Given the description of an element on the screen output the (x, y) to click on. 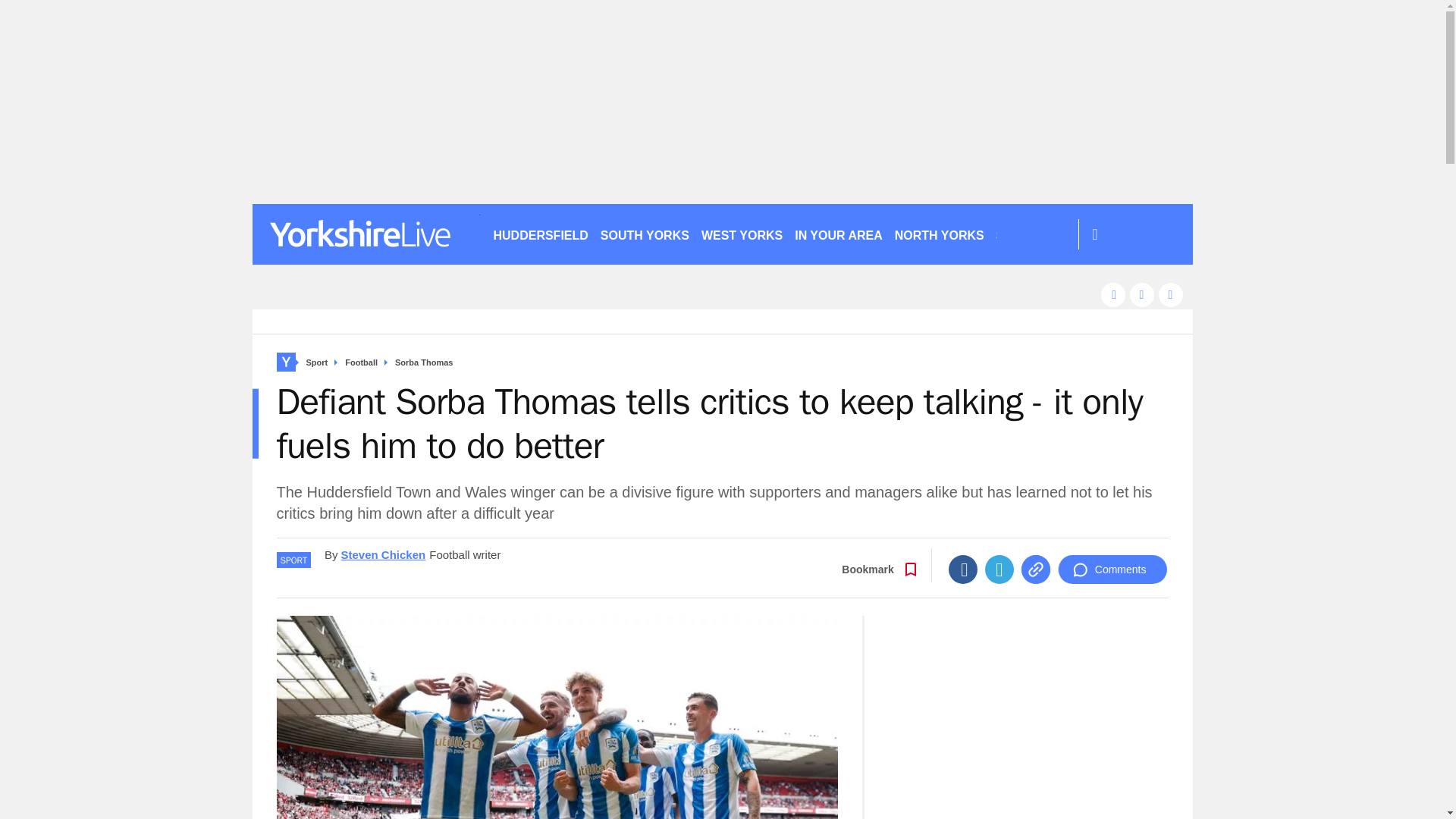
facebook (1112, 294)
huddersfieldexaminer (365, 233)
NORTH YORKS (939, 233)
instagram (1170, 294)
Comments (1112, 569)
twitter (1141, 294)
SPORT (1023, 233)
Facebook (962, 569)
HUDDERSFIELD (540, 233)
WEST YORKS (742, 233)
SOUTH YORKS (644, 233)
IN YOUR AREA (838, 233)
Twitter (999, 569)
